Given the description of an element on the screen output the (x, y) to click on. 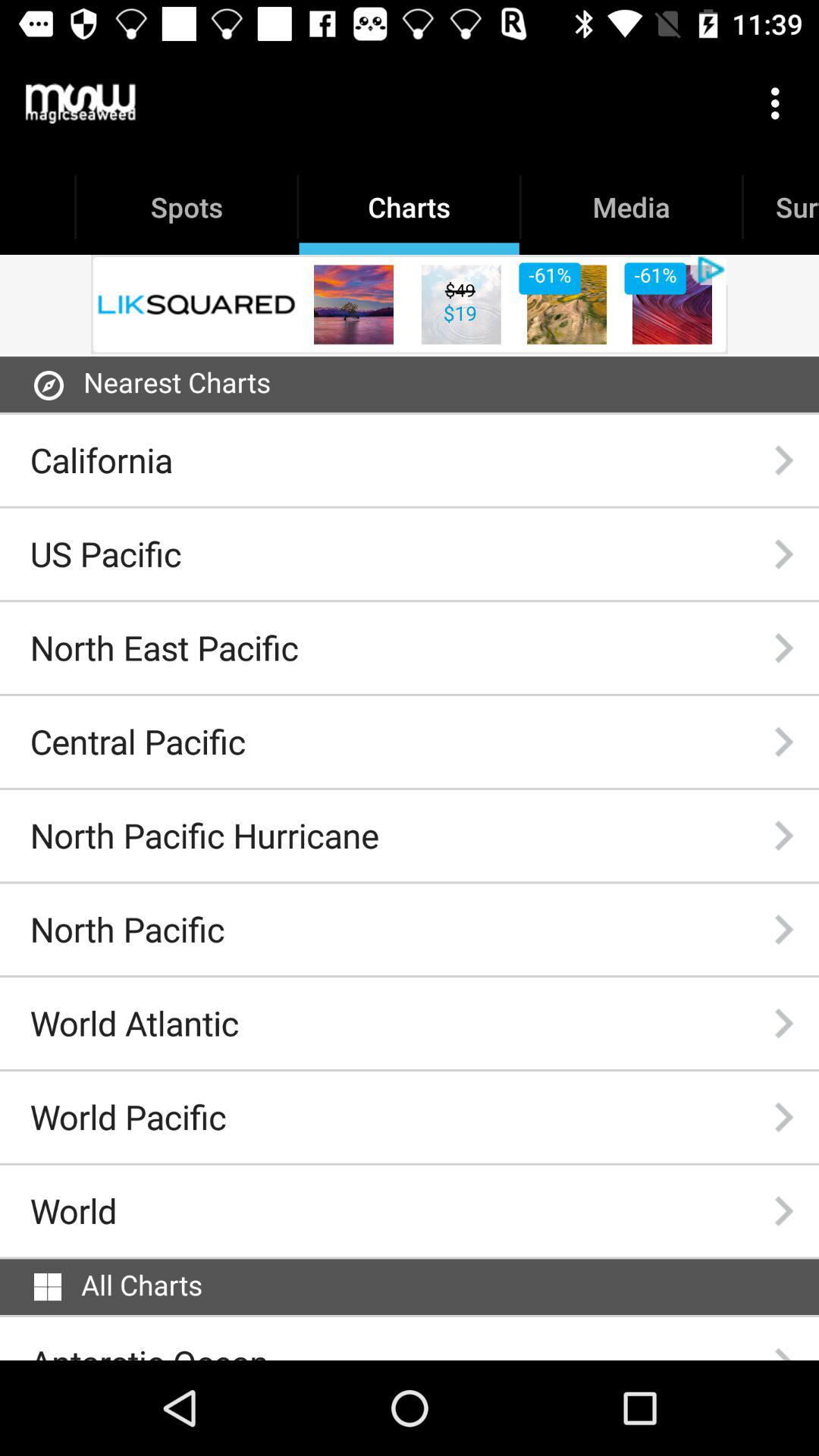
click the item above the california item (176, 382)
